Given the description of an element on the screen output the (x, y) to click on. 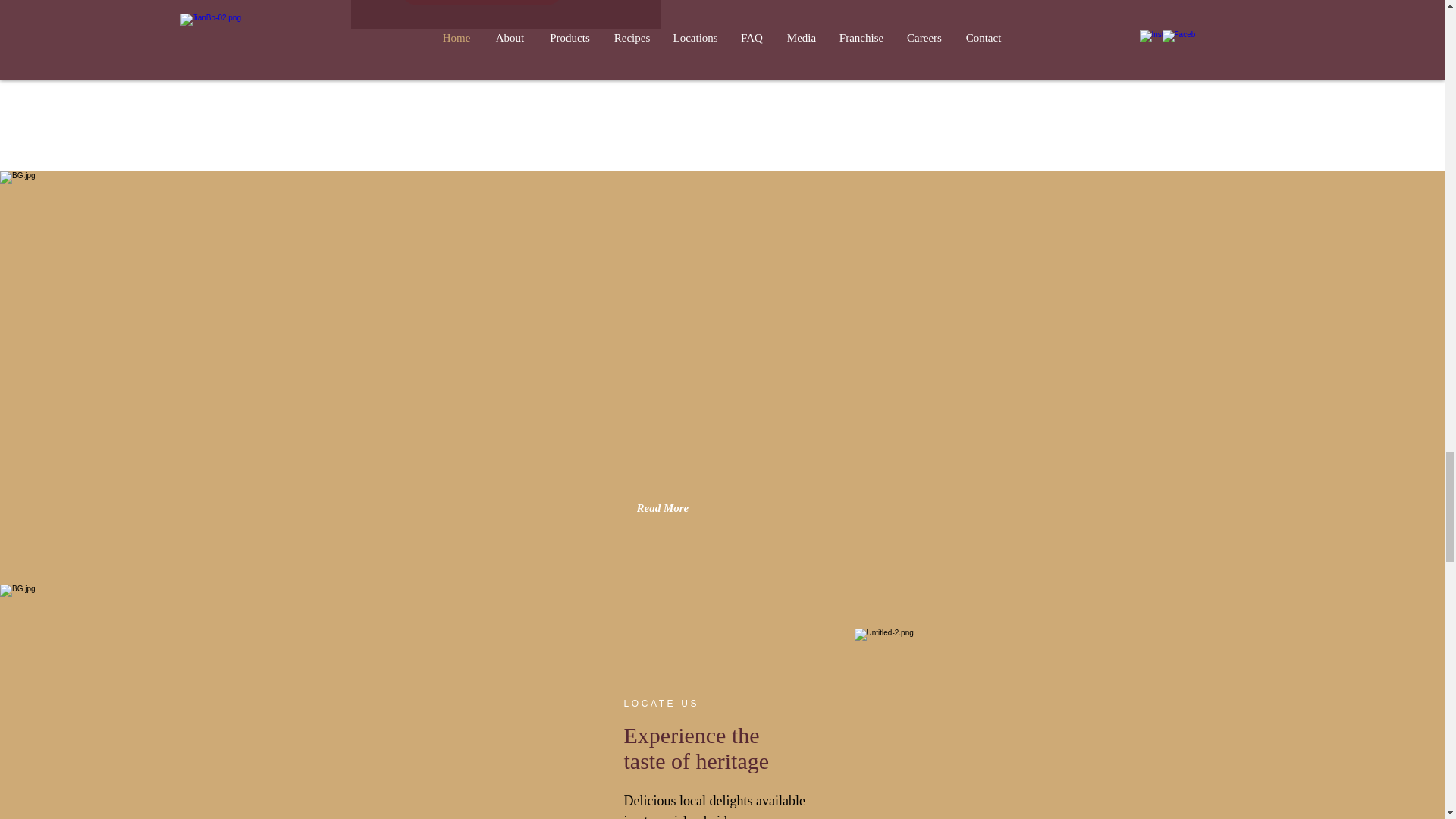
Products (481, 2)
Read More (690, 508)
